Given the description of an element on the screen output the (x, y) to click on. 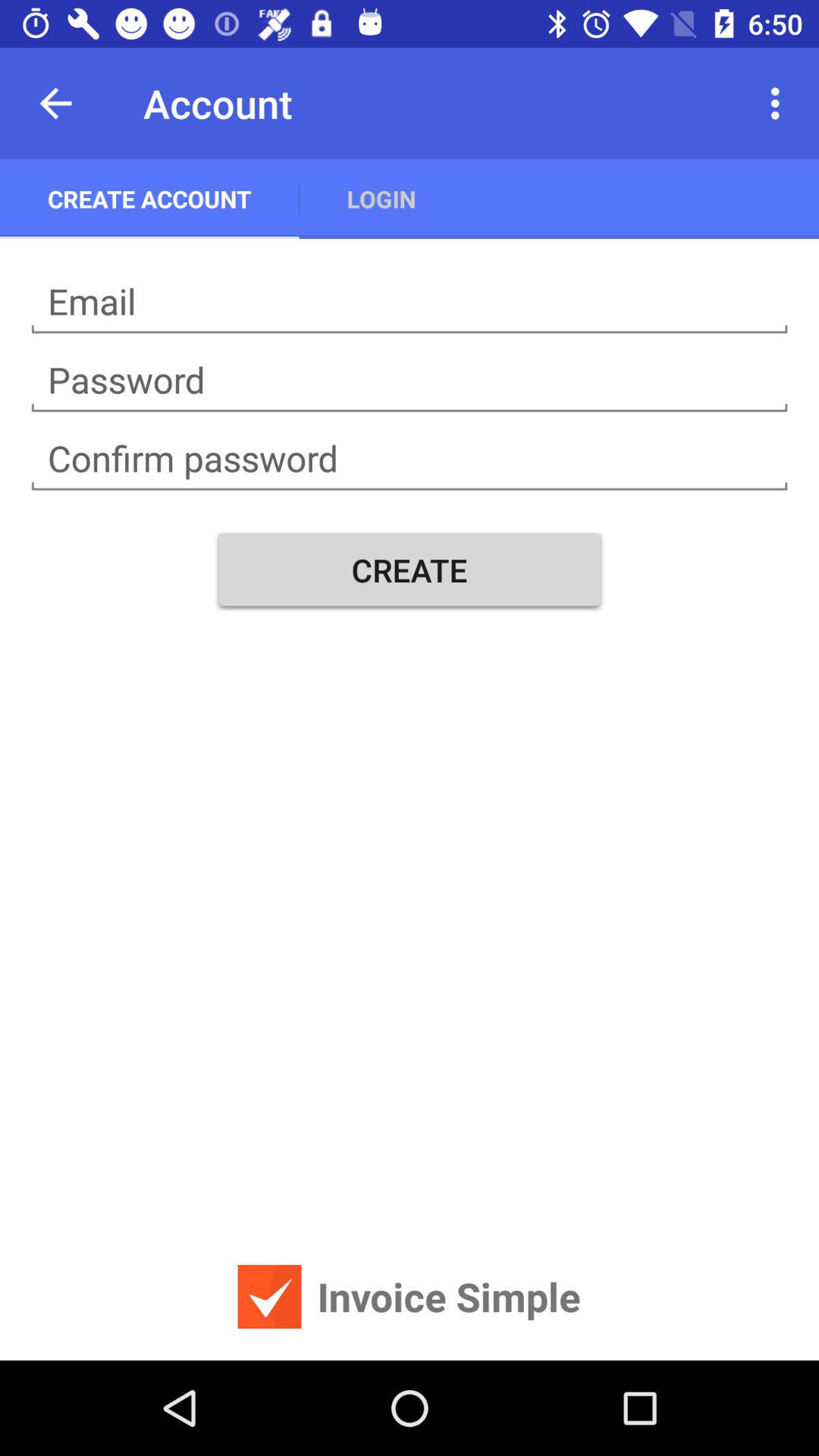
choose app next to create account icon (381, 198)
